Given the description of an element on the screen output the (x, y) to click on. 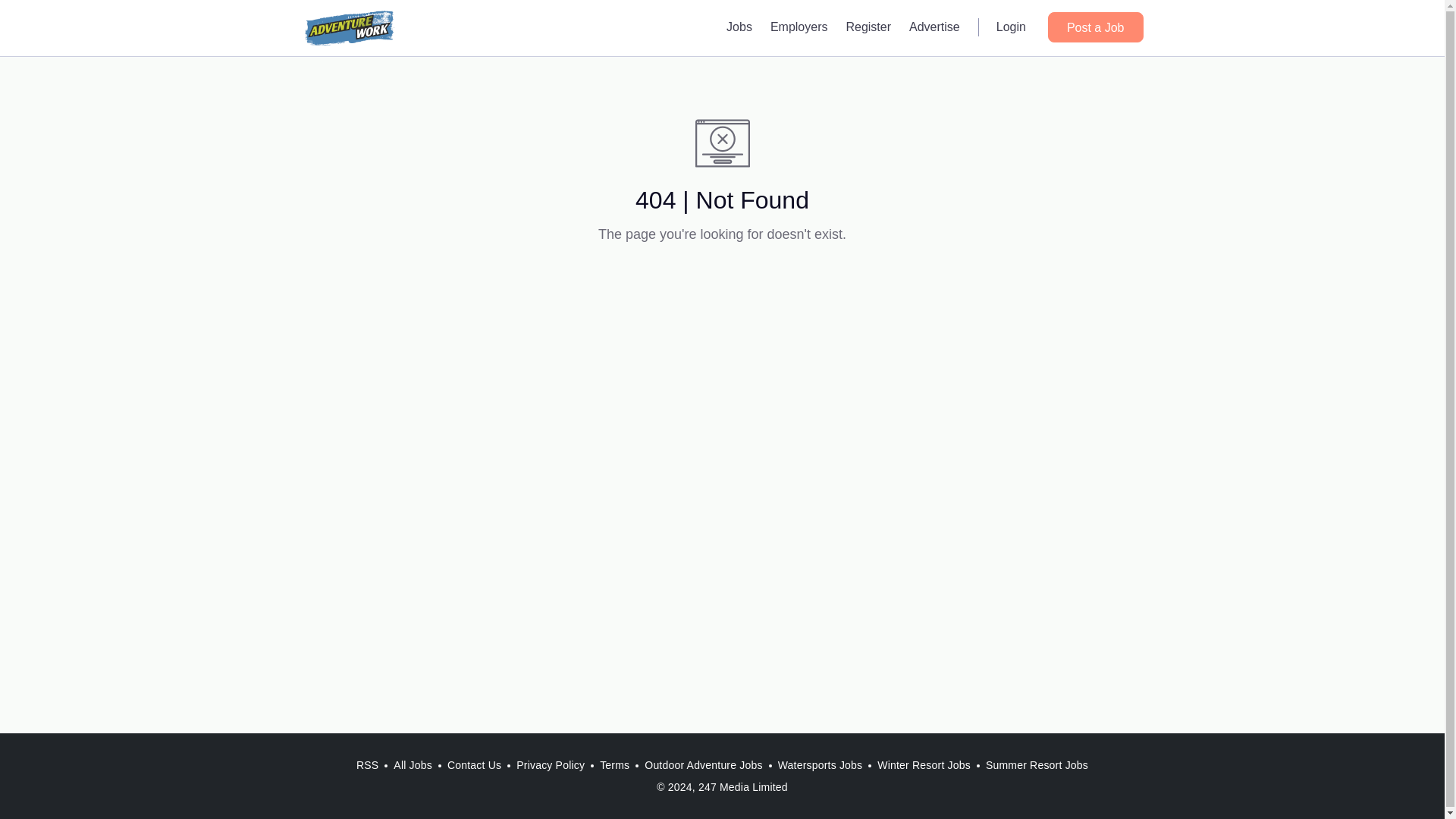
Outdoor Adventure Jobs (703, 765)
RSS (367, 765)
Advertise (934, 26)
Login (1011, 26)
Post a Job (1095, 27)
Employers (799, 26)
Terms (614, 765)
Jobs (739, 26)
Summer Resort Jobs (1037, 765)
Contact Us (473, 765)
Register (867, 26)
Watersports Jobs (820, 765)
Winter Resort Jobs (923, 765)
Privacy Policy (550, 765)
All Jobs (412, 765)
